Given the description of an element on the screen output the (x, y) to click on. 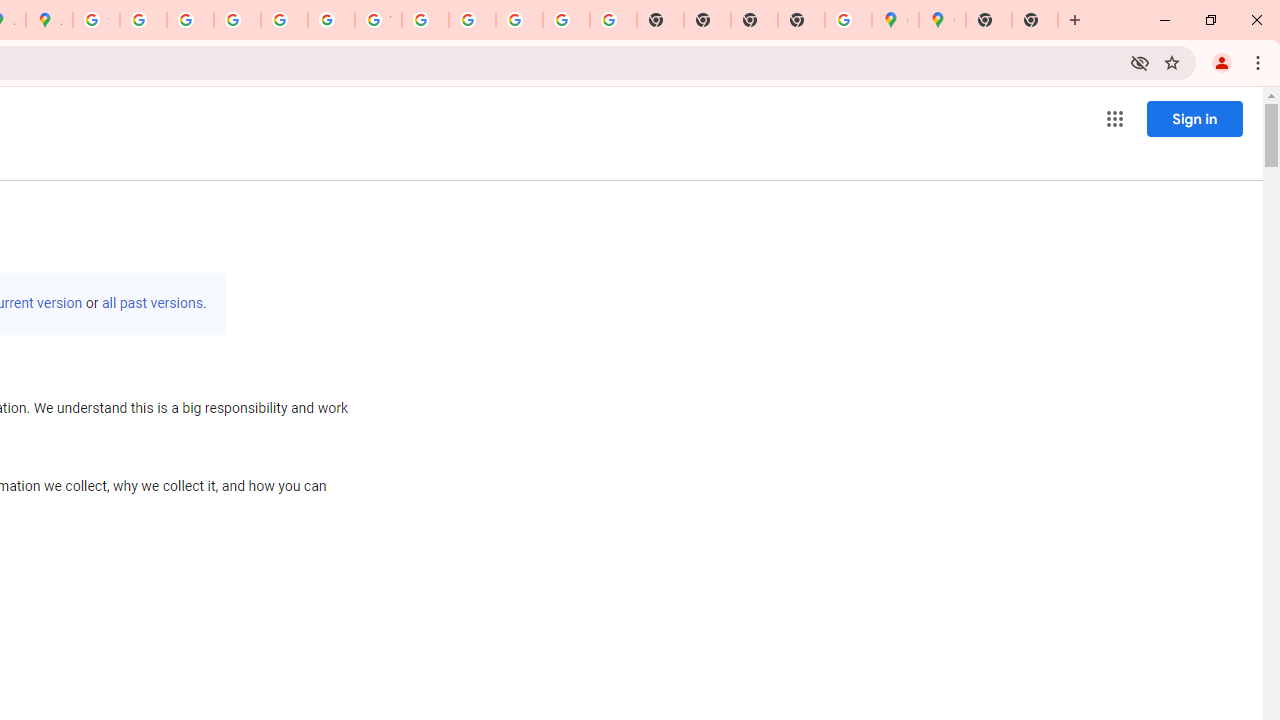
Privacy Help Center - Policies Help (237, 20)
all past versions (152, 303)
New Tab (1035, 20)
New Tab (801, 20)
Browse Chrome as a guest - Computer - Google Chrome Help (425, 20)
Google Maps (942, 20)
